Given the description of an element on the screen output the (x, y) to click on. 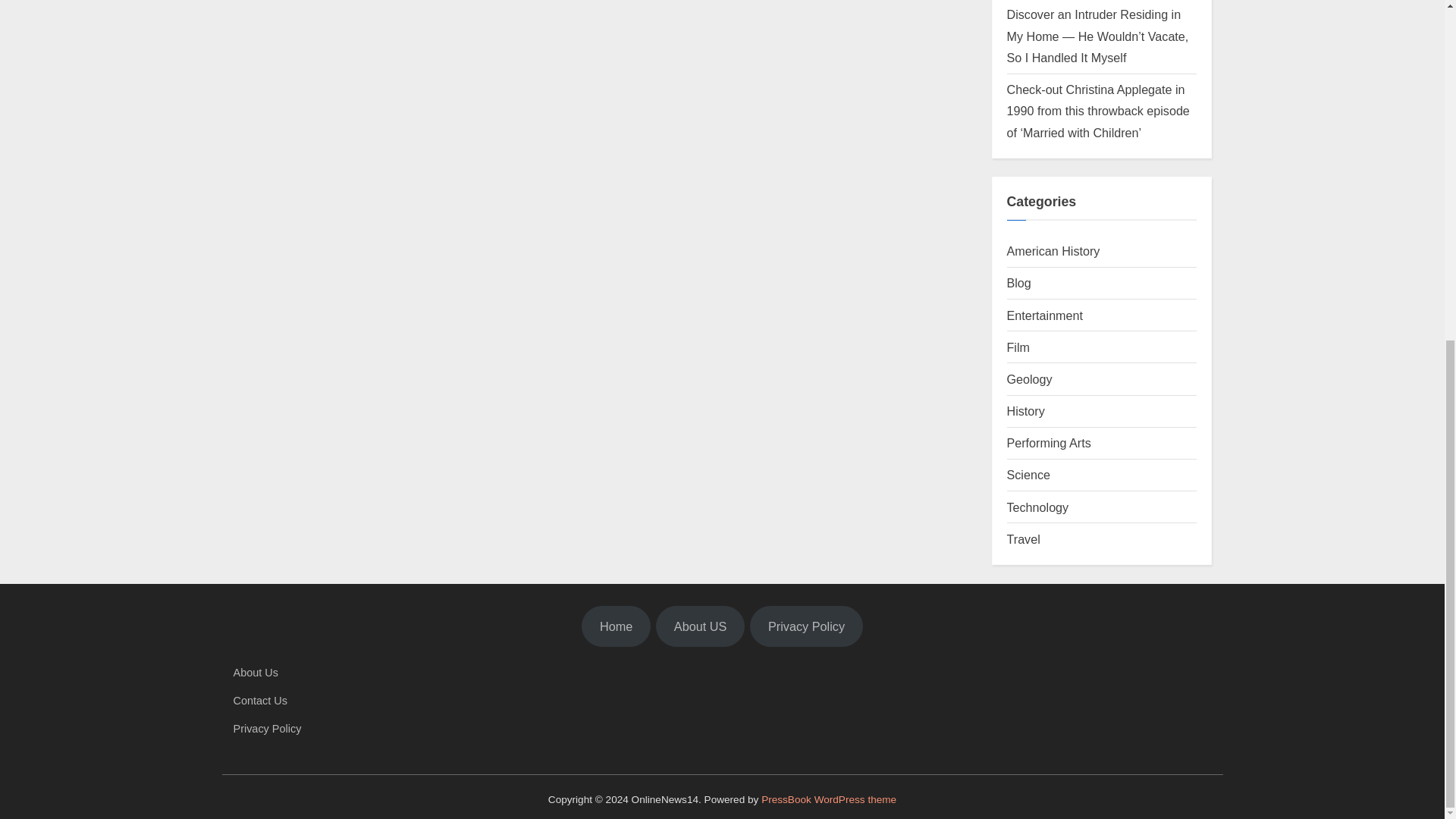
Performing Arts (1048, 442)
History (1026, 410)
Technology (1037, 507)
Science (1028, 474)
Film (1018, 346)
Blog (1018, 282)
American History (1053, 250)
Travel (1024, 539)
Entertainment (1045, 315)
Geology (1029, 378)
